Given the description of an element on the screen output the (x, y) to click on. 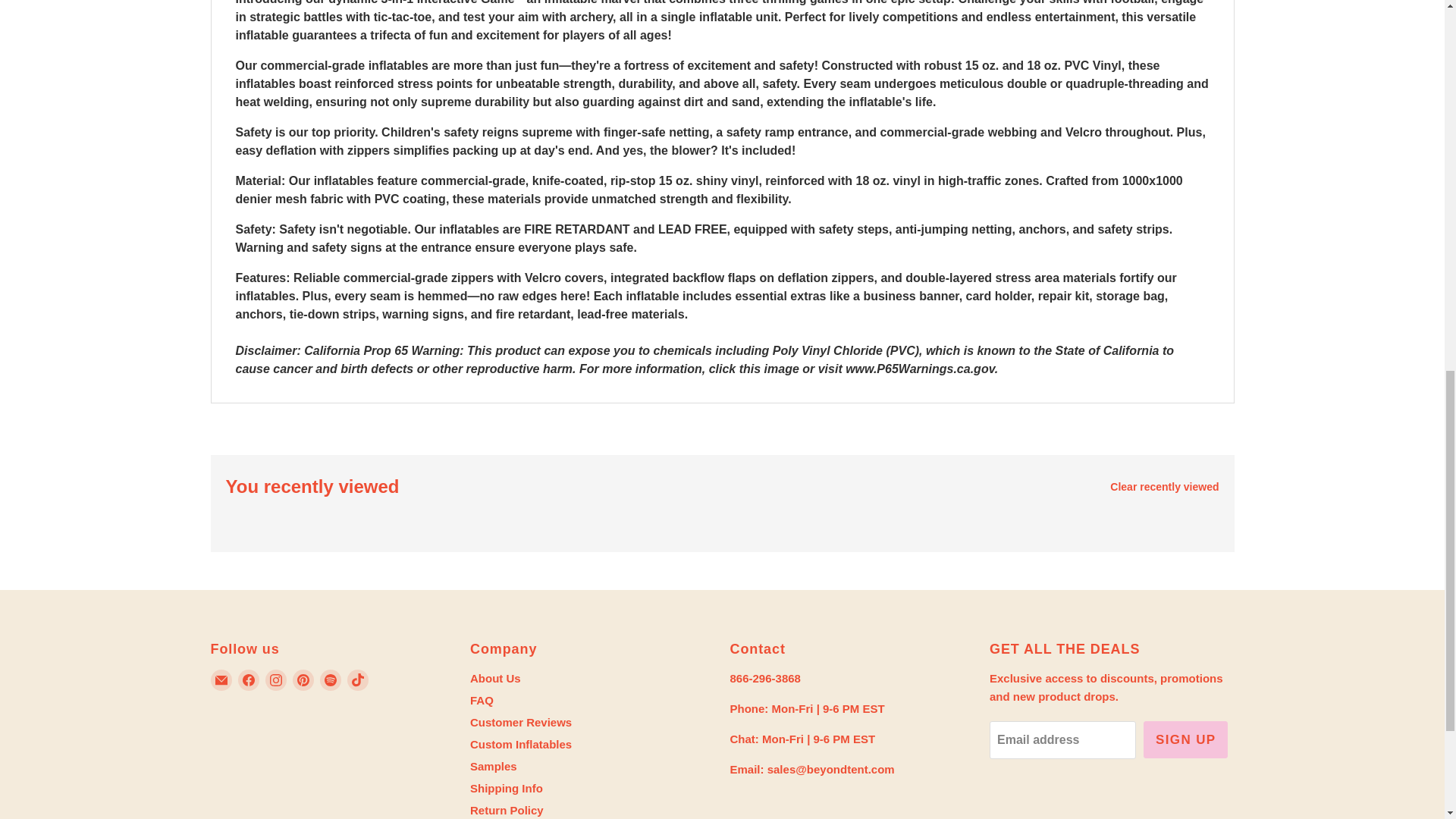
Instagram (275, 679)
Email (221, 679)
Pinterest (303, 679)
Facebook (248, 679)
TikTok (357, 679)
Spotify (330, 679)
